Given the description of an element on the screen output the (x, y) to click on. 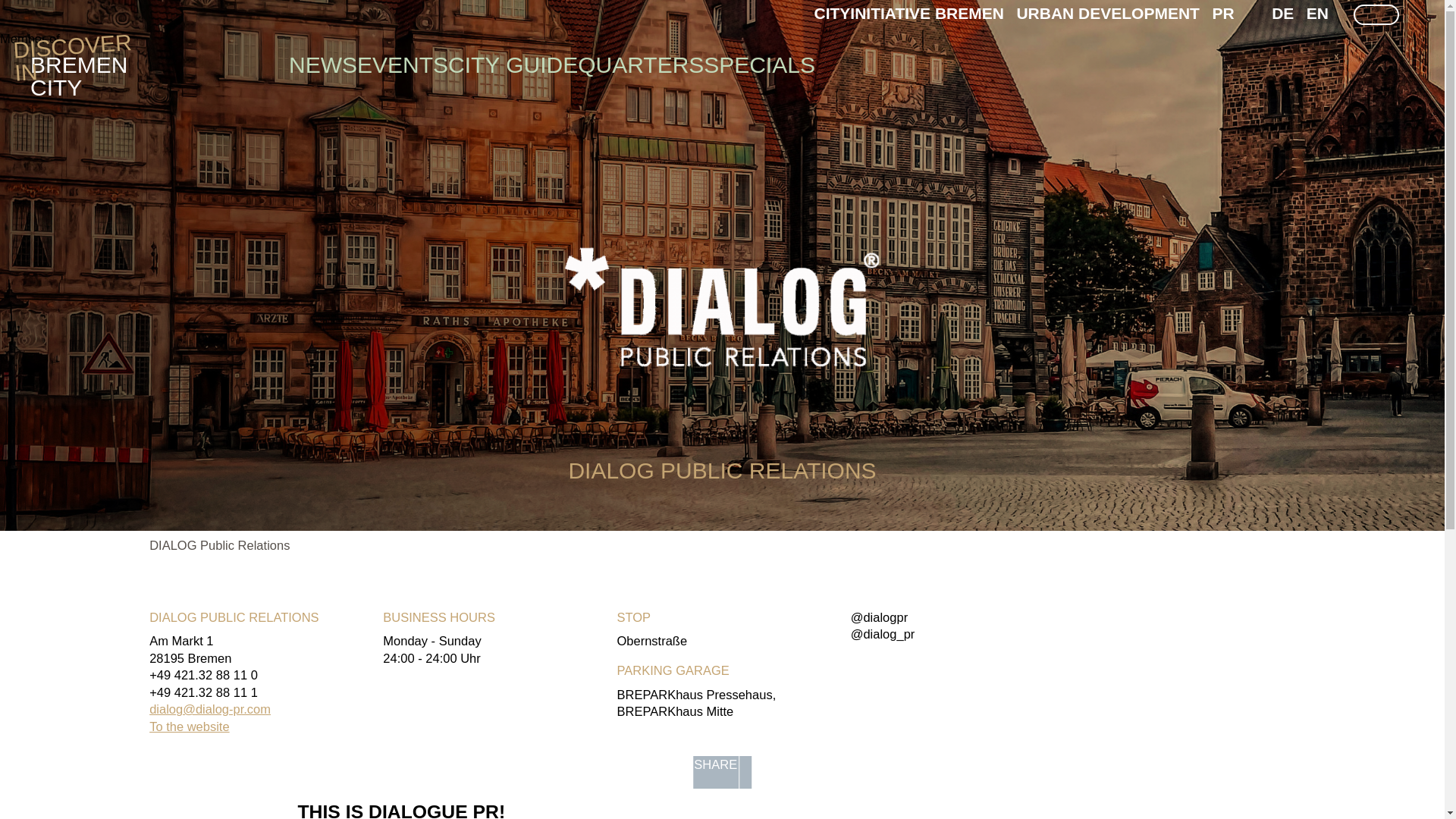
CITYINITIATIVE BREMEN (908, 13)
EVENTS (402, 63)
PR (1222, 13)
URBAN DEVELOPMENT (1107, 13)
Skip to main content (56, 8)
DIALOG Public Relations (219, 545)
QUARTERS (640, 63)
CITY GUIDE (79, 65)
Go (513, 63)
Go (1362, 33)
DE (1362, 33)
NEWS (1282, 13)
SPECIALS (322, 63)
EN (759, 63)
